Given the description of an element on the screen output the (x, y) to click on. 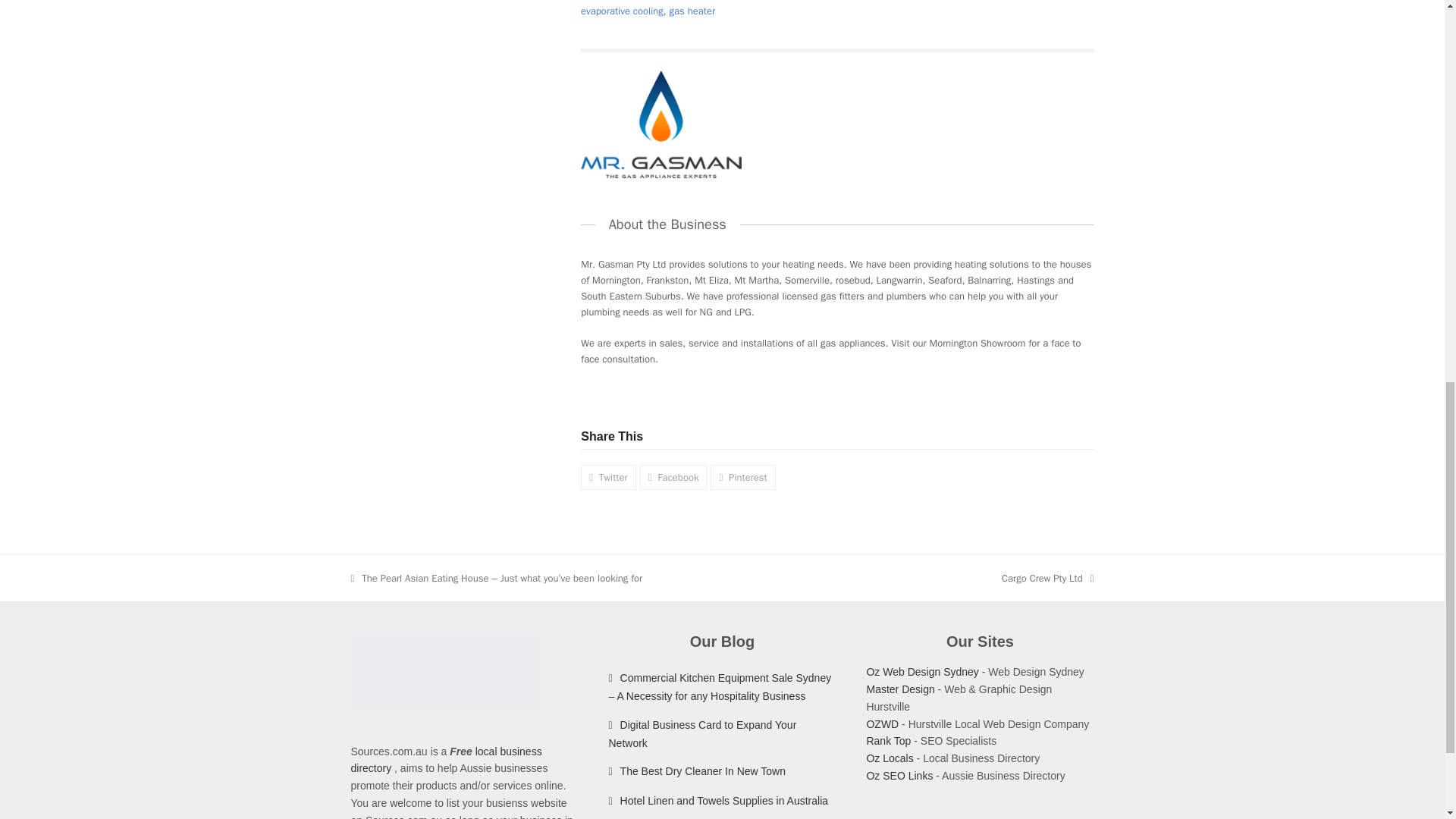
Oz Web Design Sydney (922, 671)
gas heater (692, 10)
australian business directory (889, 758)
evaporative cooling (621, 10)
Master Design (900, 689)
Hotel Linen and Towels Supplies in Australia (718, 800)
web design hurstville (900, 689)
local business directory (445, 759)
evaporative cooling (621, 10)
gas heater (692, 10)
seo hurstville (888, 740)
Pinterest (742, 476)
OZWD (1047, 578)
Facebook (882, 724)
